Given the description of an element on the screen output the (x, y) to click on. 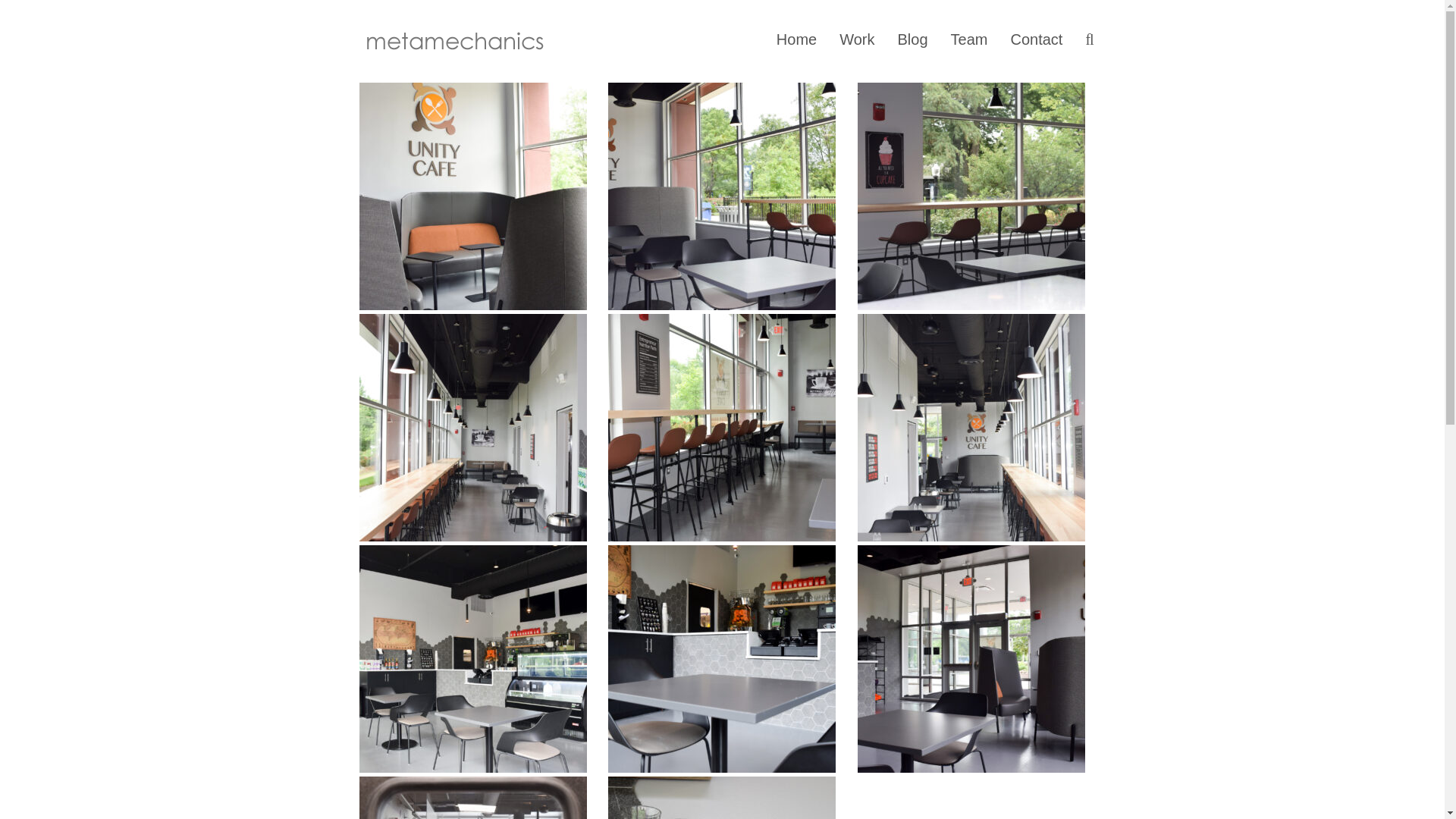
Team (968, 41)
Blog (912, 41)
Work (856, 41)
Home (796, 41)
Contact (1036, 41)
